Given the description of an element on the screen output the (x, y) to click on. 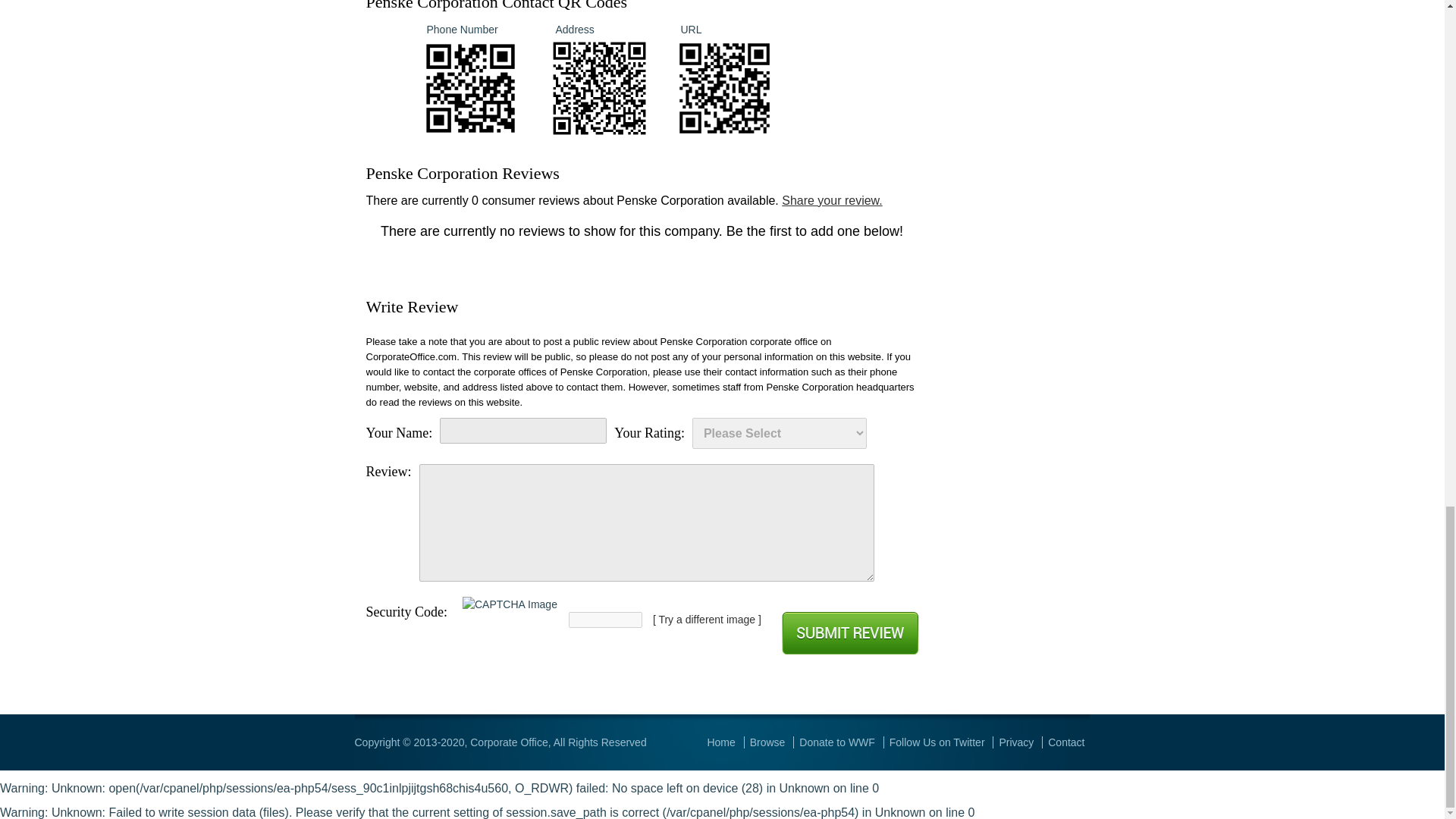
Donate to WWF (837, 742)
Home (720, 742)
Share your review. (831, 200)
Contact (1066, 742)
Privacy (1015, 742)
Browse (767, 742)
Corporate Office (508, 742)
Follow Us on Twitter (937, 742)
